Given the description of an element on the screen output the (x, y) to click on. 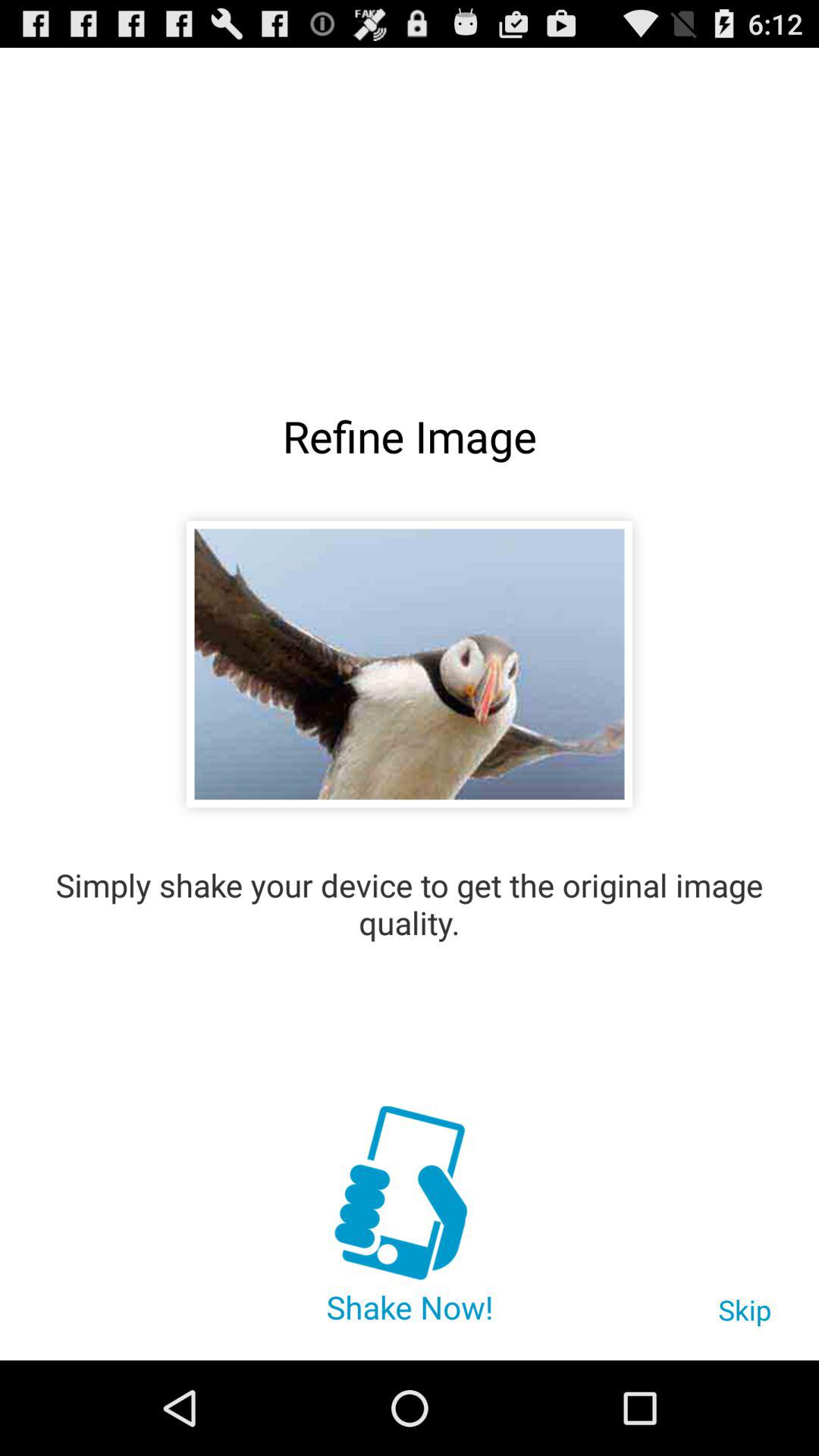
click the icon at the bottom right corner (744, 1317)
